Given the description of an element on the screen output the (x, y) to click on. 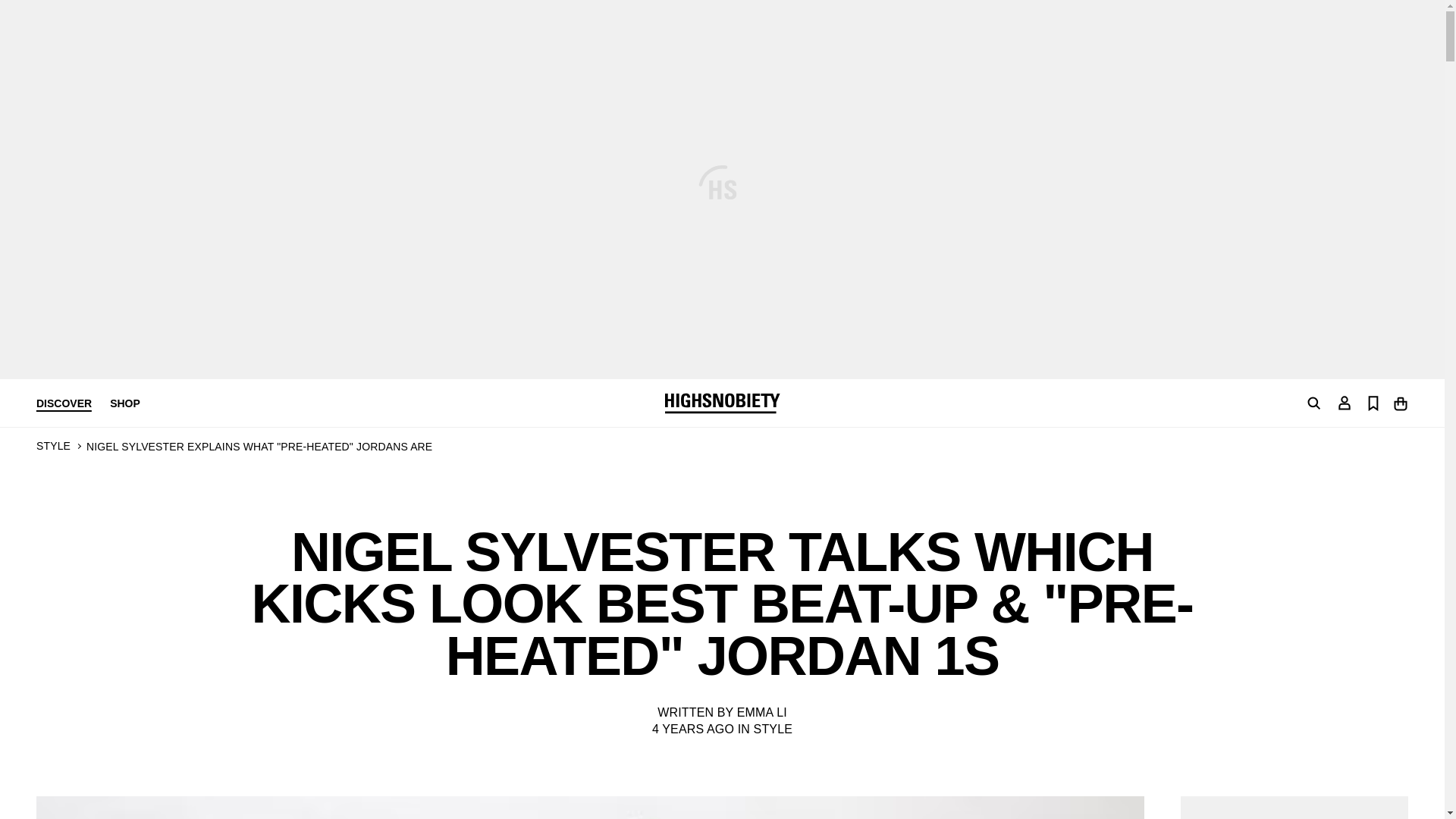
Go To Shopping Cart (1400, 402)
Highsnobiety (720, 403)
Go To Saved (1372, 402)
Go To Account (1344, 402)
Go To Search (1314, 403)
